Given the description of an element on the screen output the (x, y) to click on. 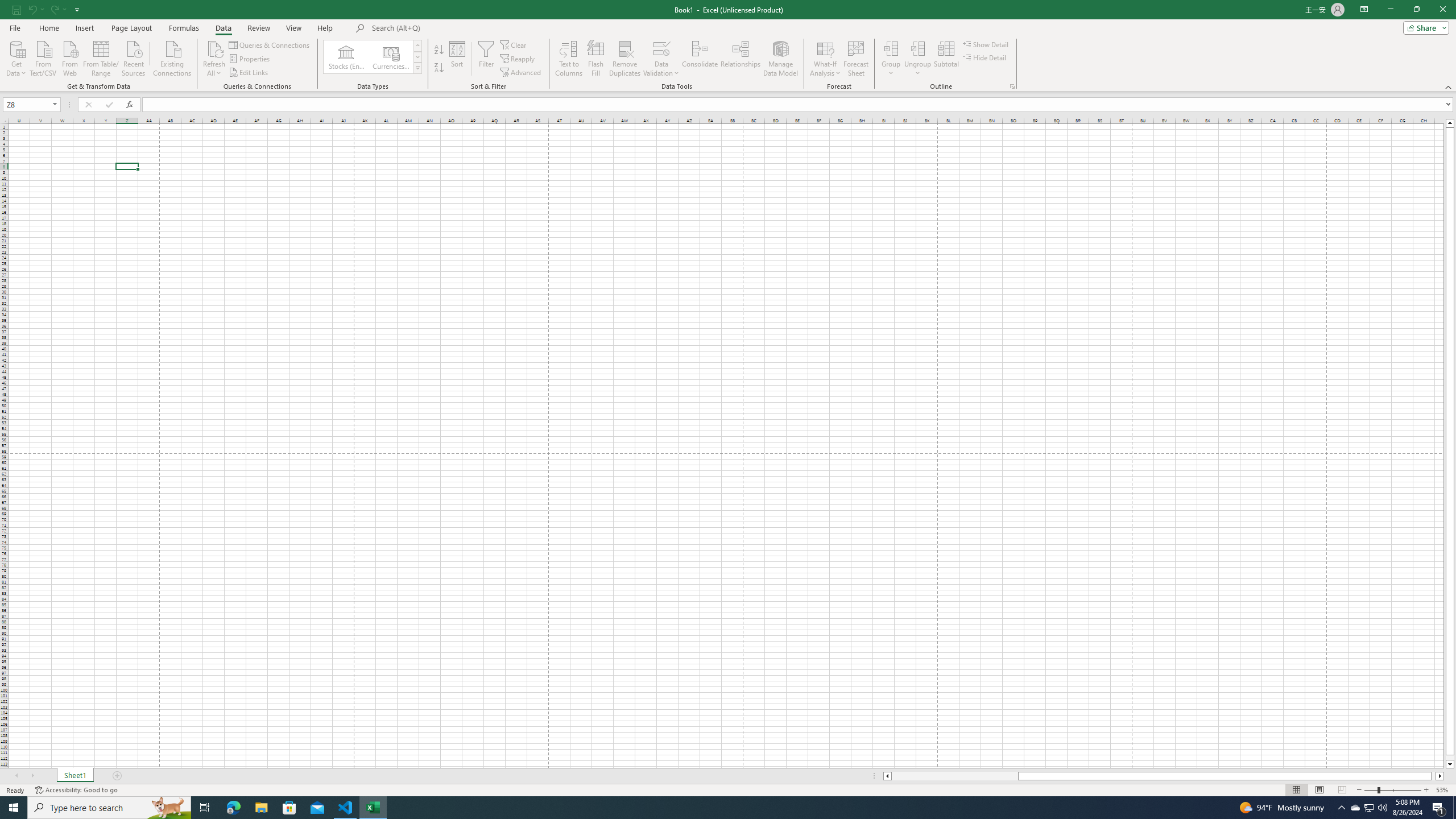
Consolidate... (700, 58)
